Given the description of an element on the screen output the (x, y) to click on. 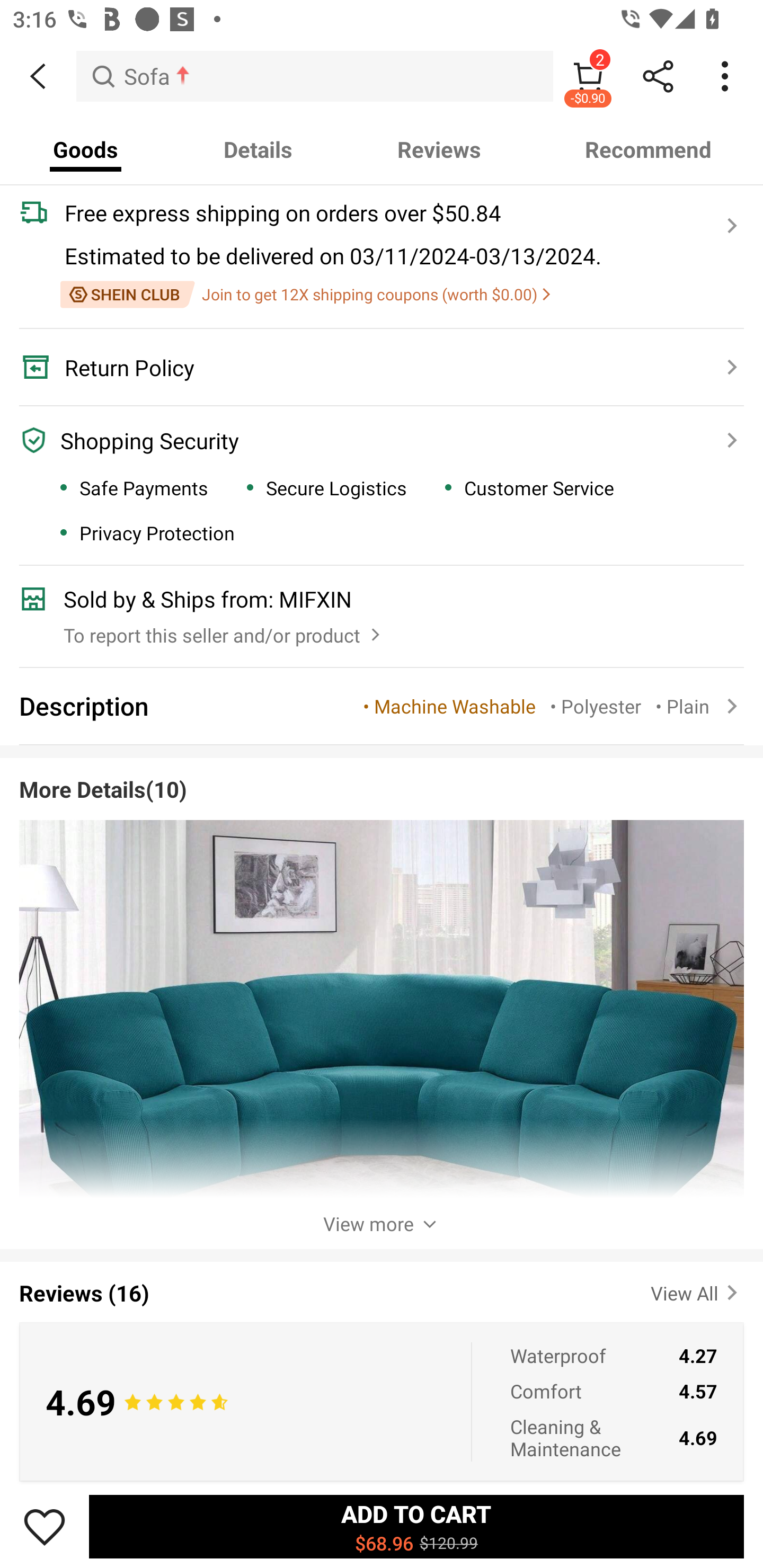
BACK (38, 75)
2 -$0.90 (588, 75)
Sofa (314, 75)
Details (257, 149)
Reviews (439, 149)
Recommend (648, 149)
Join to get 12X shipping coupons (worth $0.00) (305, 294)
Return Policy (370, 366)
To report this seller and/or product   (224, 630)
More Details(10) View more (381, 996)
View more (381, 1223)
ADD TO CART $68.96 $120.99 (416, 1526)
Save (44, 1526)
